Given the description of an element on the screen output the (x, y) to click on. 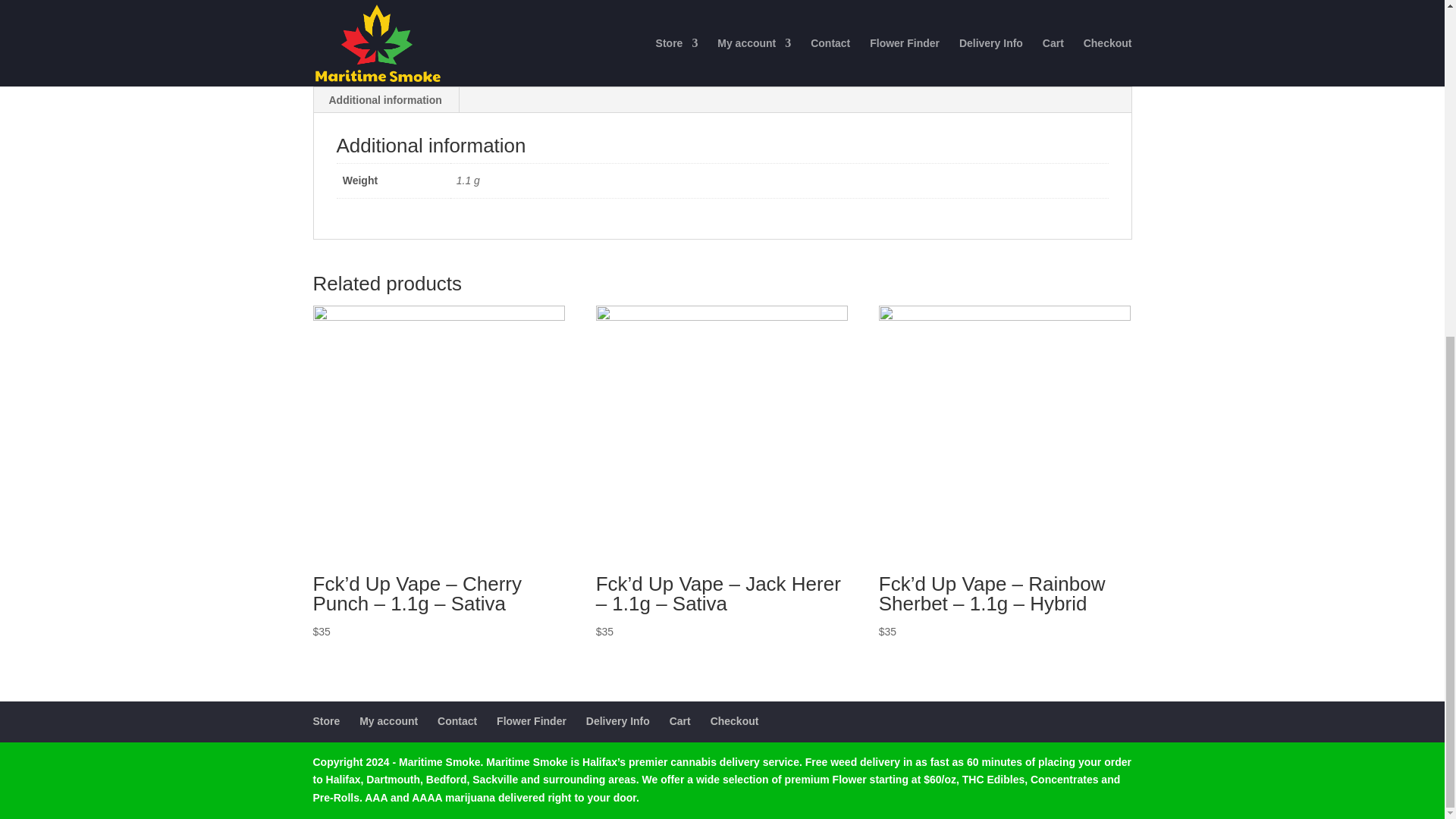
Additional information (385, 99)
